Given the description of an element on the screen output the (x, y) to click on. 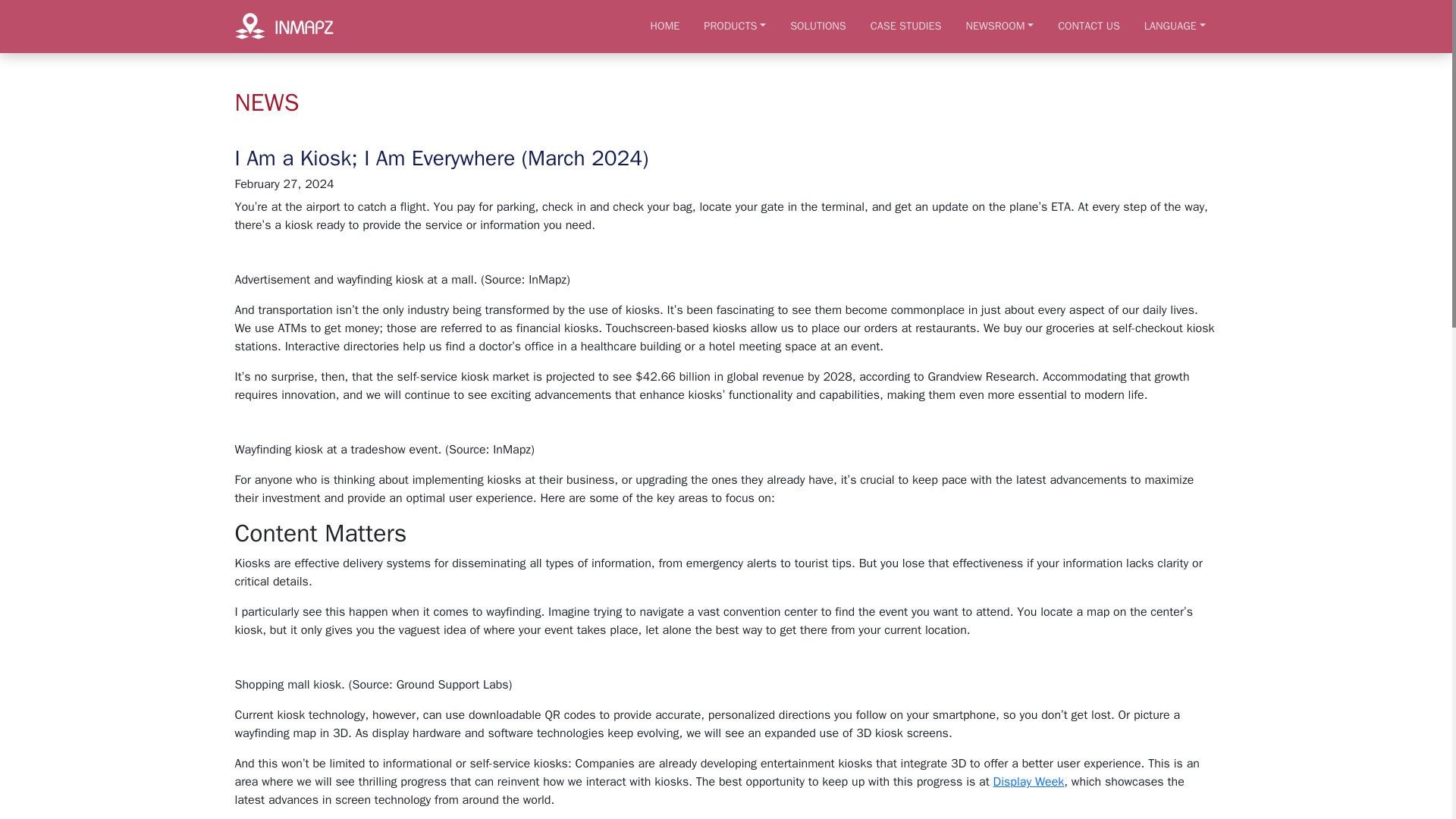
NEWS (266, 101)
CASE STUDIES (906, 25)
NEWSROOM (999, 25)
HOME (666, 25)
CONTACT US (1088, 25)
PRODUCTS (734, 25)
LANGUAGE (1174, 25)
Display Week (1028, 781)
SOLUTIONS (818, 25)
